Given the description of an element on the screen output the (x, y) to click on. 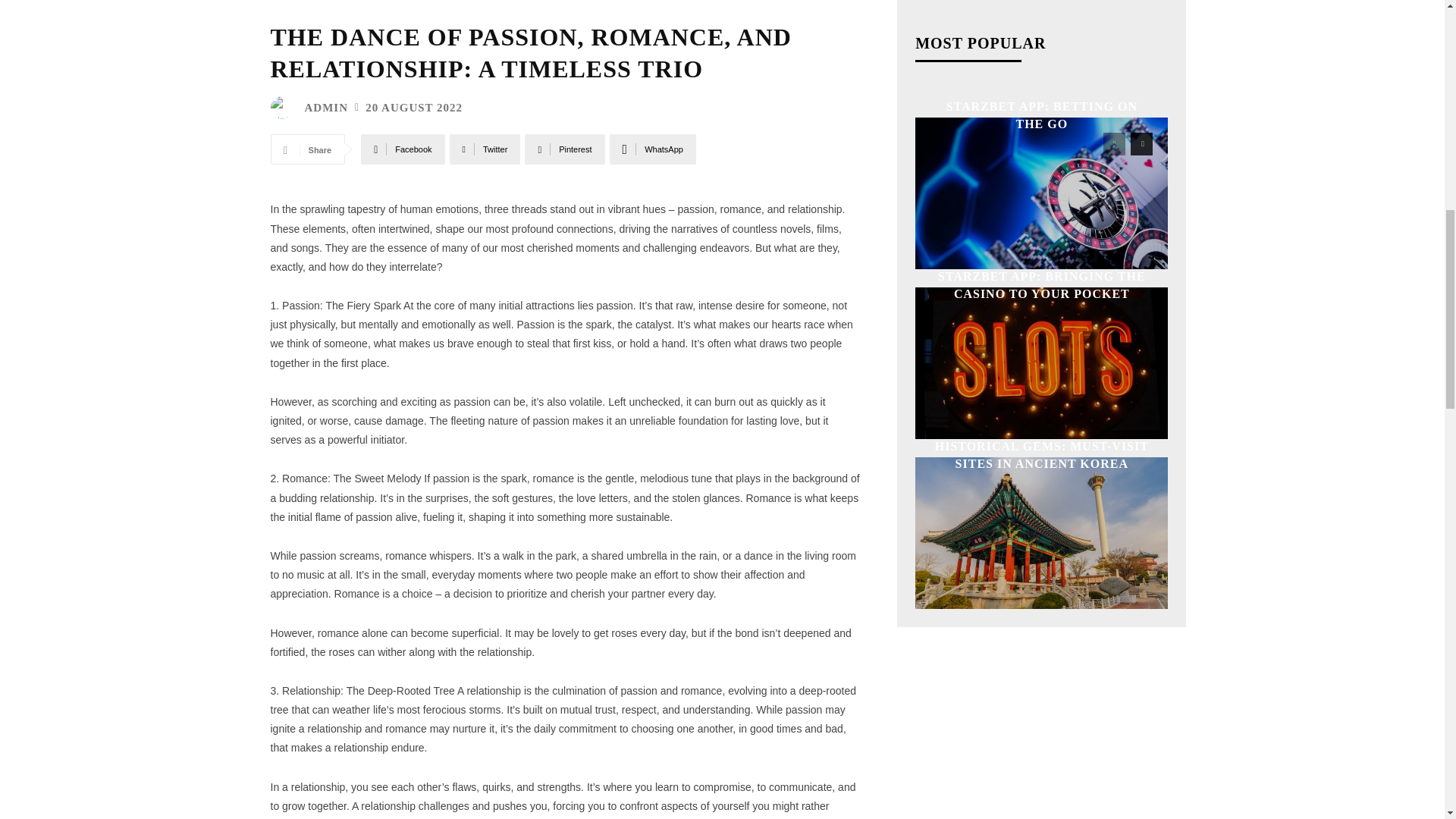
Facebook (402, 149)
ADMIN (326, 107)
WhatsApp (652, 149)
Pinterest (564, 149)
Twitter (485, 149)
admin (284, 107)
